Given the description of an element on the screen output the (x, y) to click on. 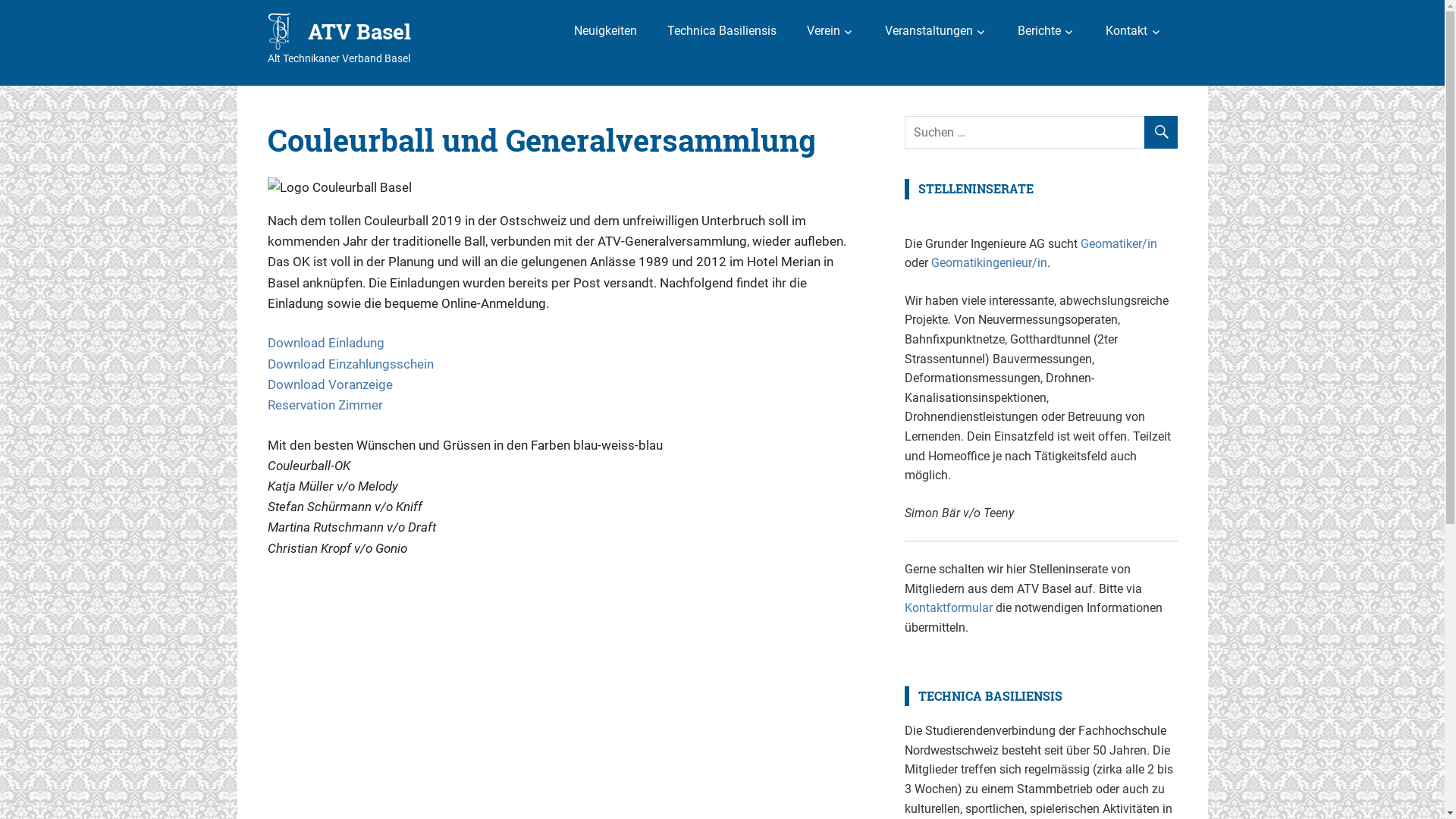
Kontaktformular Element type: text (948, 607)
Suchen nach: Element type: hover (1039, 132)
Geomatiker/in Element type: text (1117, 243)
Technica Basiliensis Element type: text (721, 31)
Download Einladung Element type: text (324, 342)
Reservation Zimmer Element type: text (324, 404)
Download Einzahlungsschein Element type: text (349, 363)
Neuigkeiten Element type: text (605, 31)
Download Voranzeige Element type: text (329, 384)
Verein Element type: text (830, 31)
Veranstaltungen Element type: text (935, 31)
Geomatikingenieur/in Element type: text (989, 262)
Kontakt Element type: text (1133, 31)
ATV Basel Element type: text (359, 31)
Berichte Element type: text (1046, 31)
Zum Inhalt springen Element type: text (0, 0)
